Given the description of an element on the screen output the (x, y) to click on. 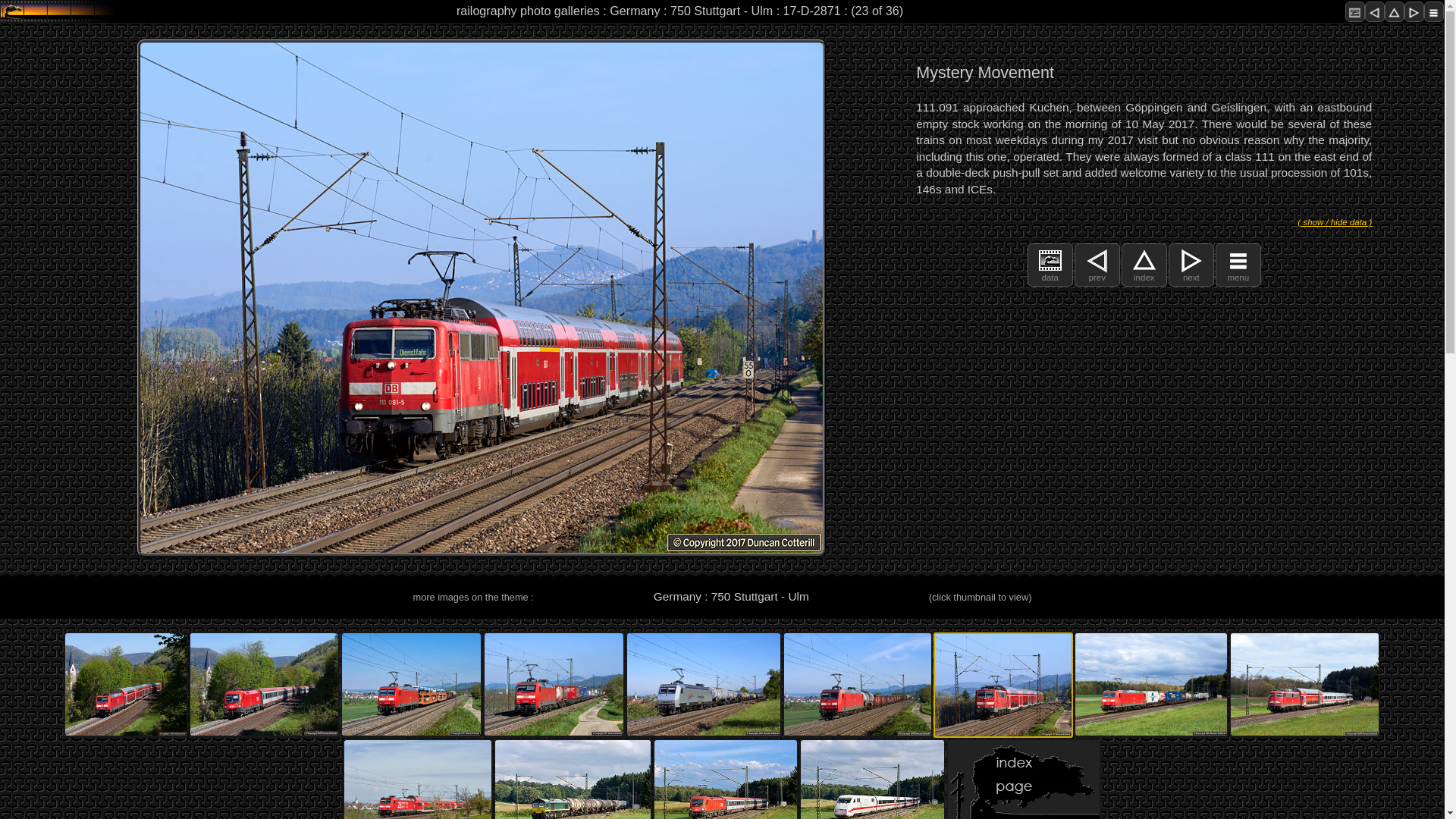
prev (1097, 276)
menu (1238, 276)
data (1050, 276)
next (1190, 276)
index (1144, 276)
